Given the description of an element on the screen output the (x, y) to click on. 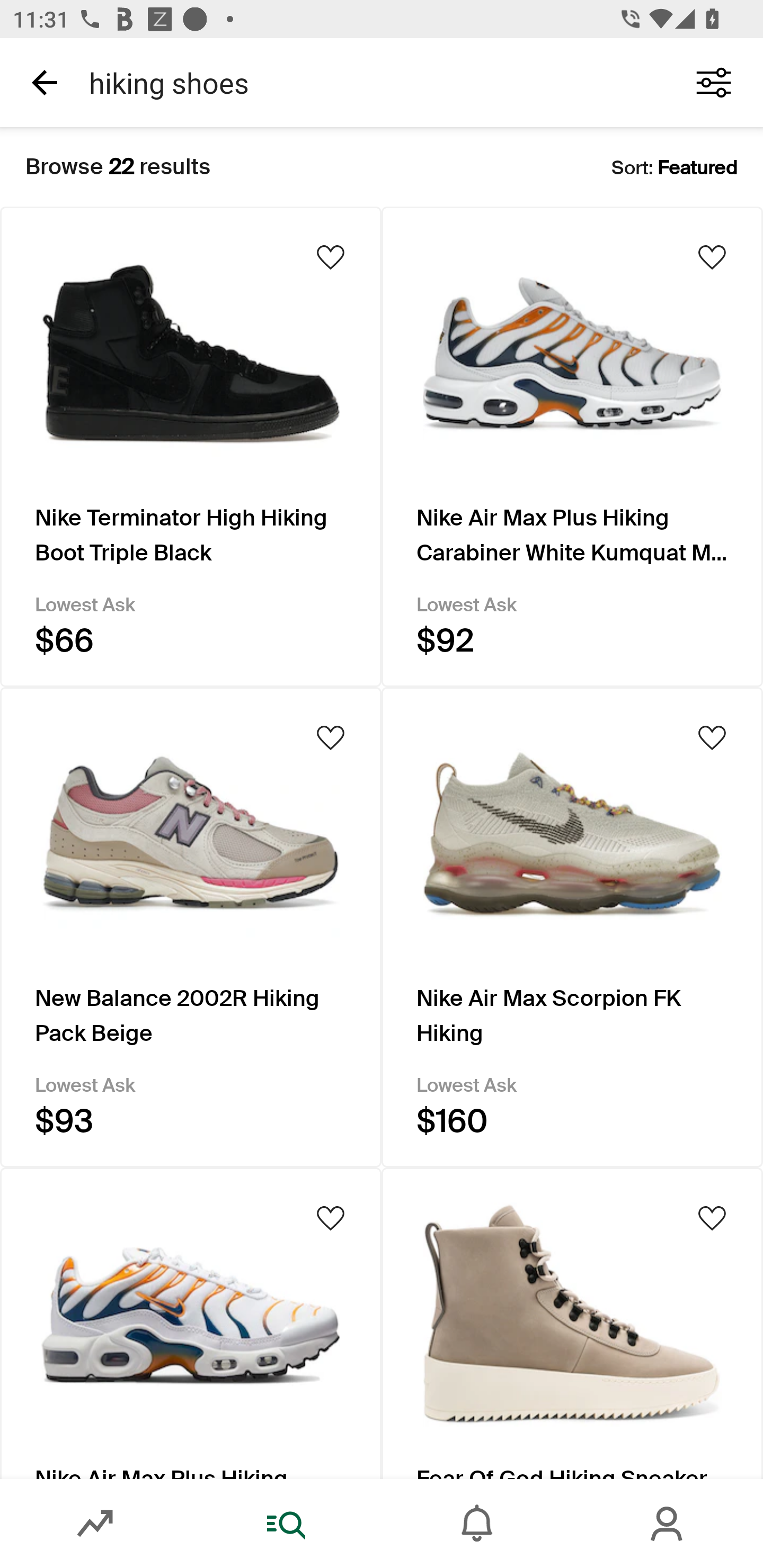
hiking shoes (370, 82)
Market (95, 1523)
Inbox (476, 1523)
Account (667, 1523)
